Given the description of an element on the screen output the (x, y) to click on. 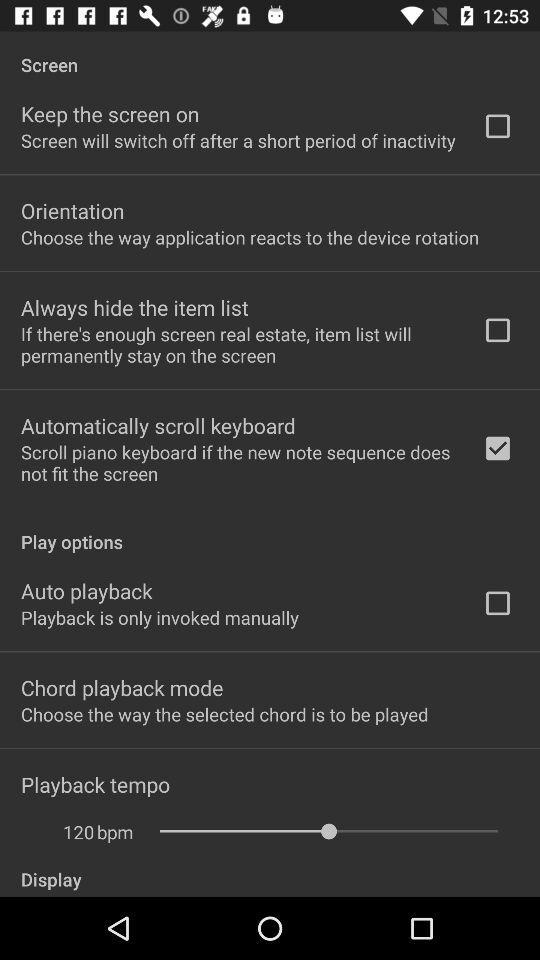
open icon below playback tempo (68, 831)
